Given the description of an element on the screen output the (x, y) to click on. 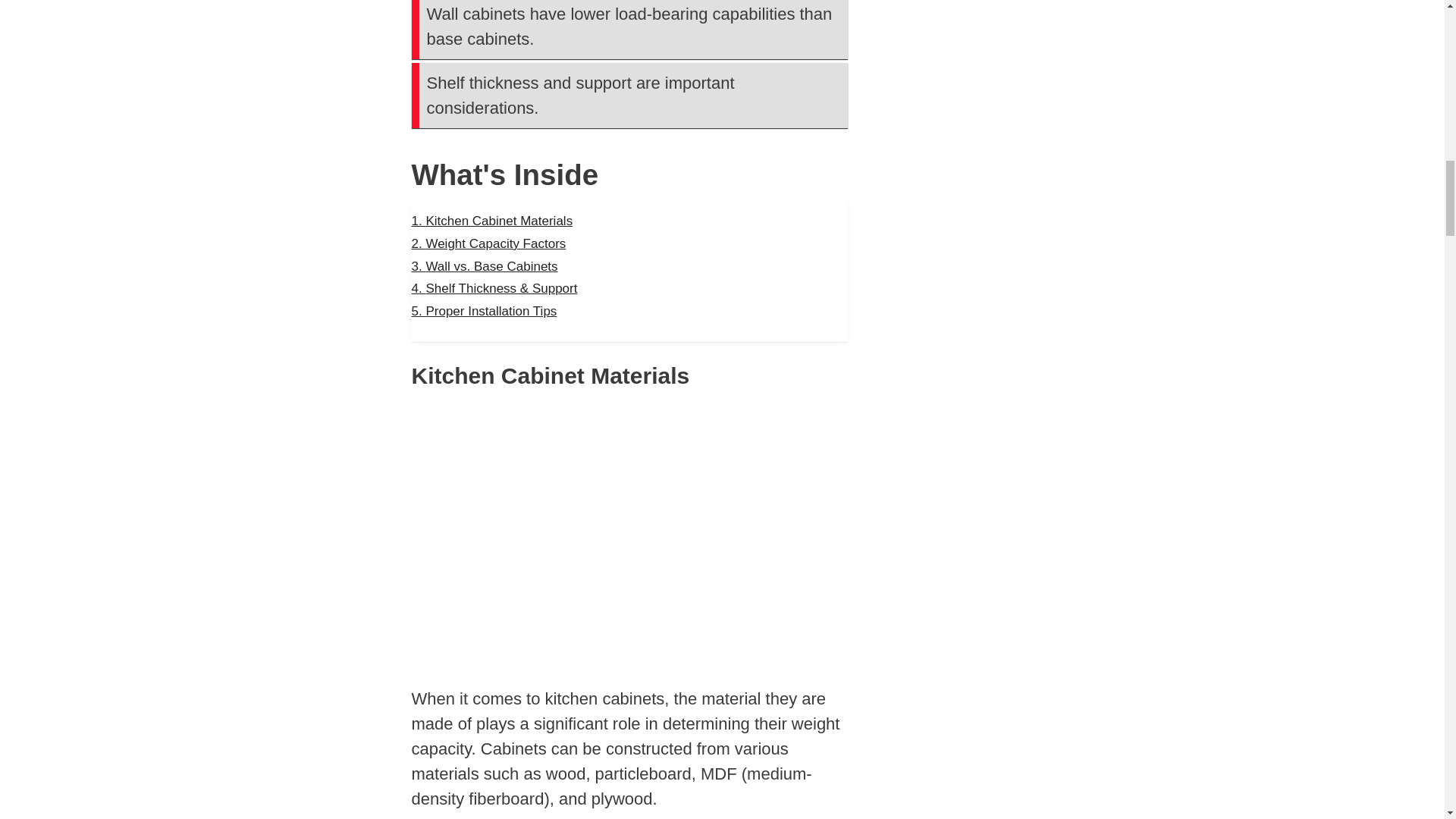
Weight Capacity Factors (488, 243)
Proper Installation Tips (483, 310)
Wall vs. Base Cabinets (483, 266)
Kitchen Cabinet Materials (491, 220)
